Given the description of an element on the screen output the (x, y) to click on. 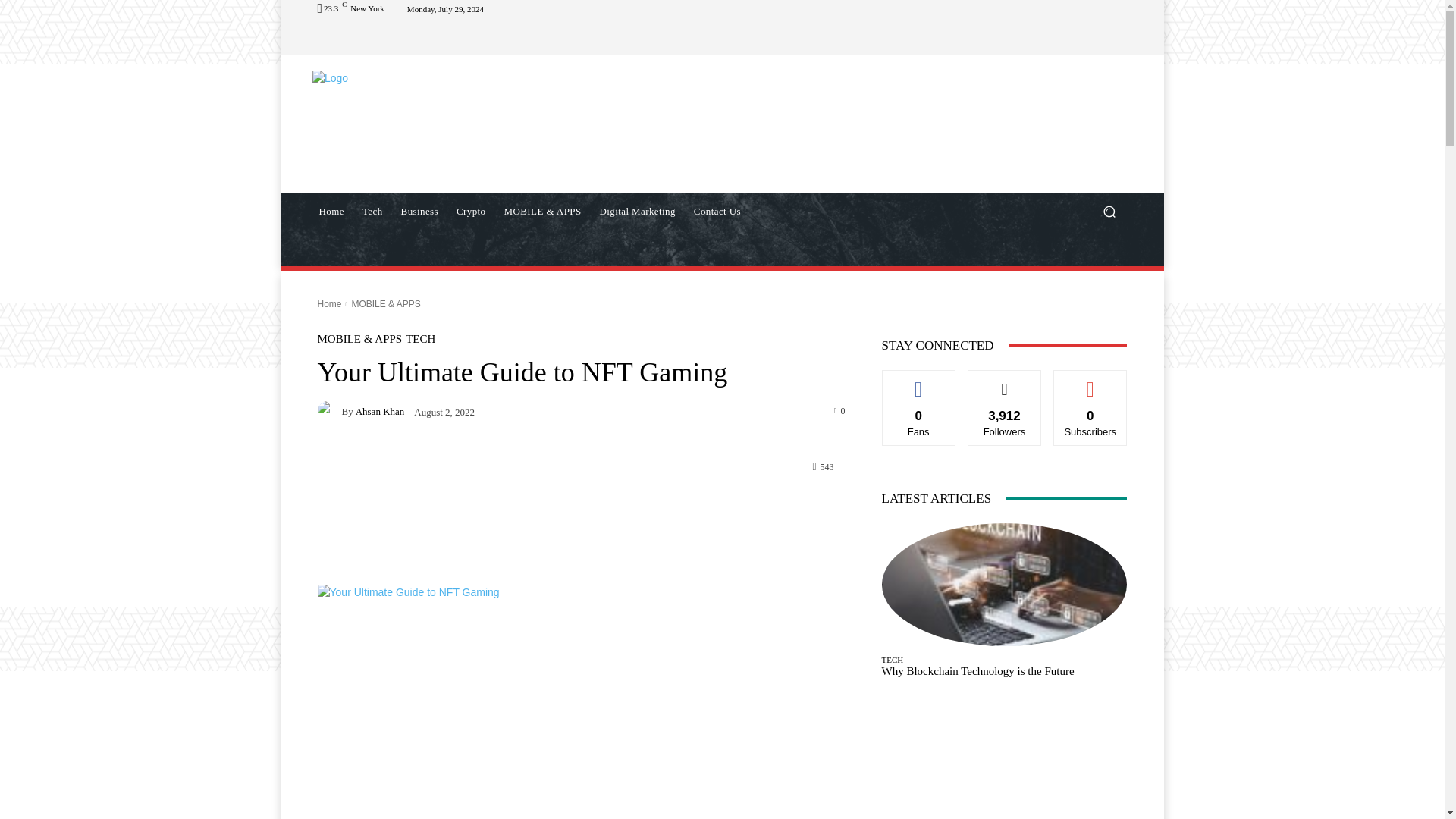
Home (330, 211)
TECH (420, 338)
Business (418, 211)
Contact Us (716, 211)
Digital Marketing (637, 211)
Ahsan Khan (328, 410)
Crypto (470, 211)
Ahsan Khan (379, 411)
0 (839, 409)
Home (328, 303)
Your Ultimate Guide to NFT Gaming (580, 701)
Tech (372, 211)
